Given the description of an element on the screen output the (x, y) to click on. 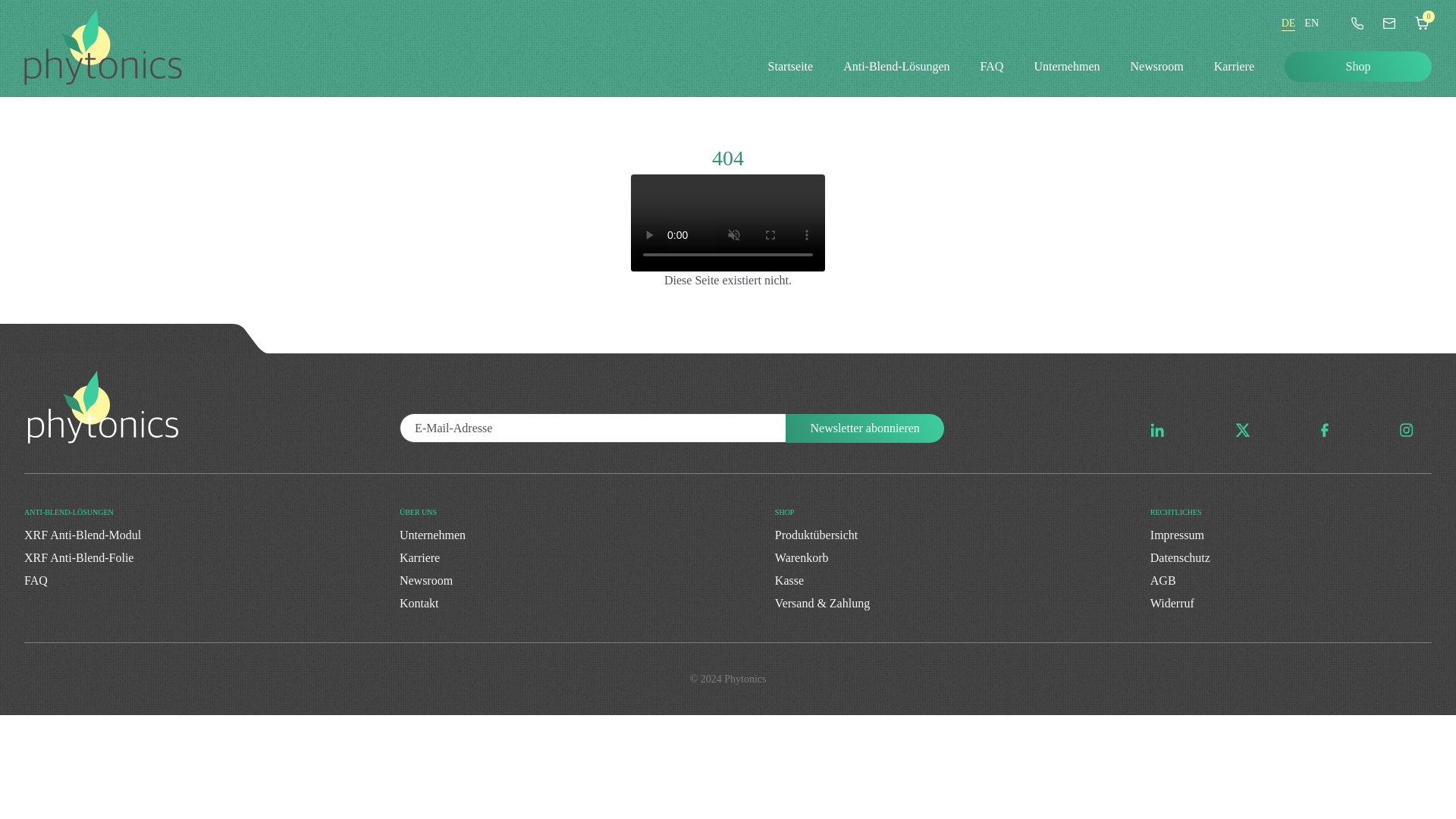
DE (1288, 22)
FAQ (991, 66)
Shop (1357, 66)
SHOP (962, 512)
XRF Anti-Blend-Modul (82, 534)
Startseite (790, 66)
RECHTLICHES (1290, 512)
Karriere (418, 557)
XRF Anti-Blend-Folie (78, 557)
Newsroom (425, 580)
Newsletter abonnieren (864, 428)
Unternehmen (431, 534)
Newsletter abonnieren (864, 428)
Kontakt (418, 603)
Unternehmen (1066, 66)
